Given the description of an element on the screen output the (x, y) to click on. 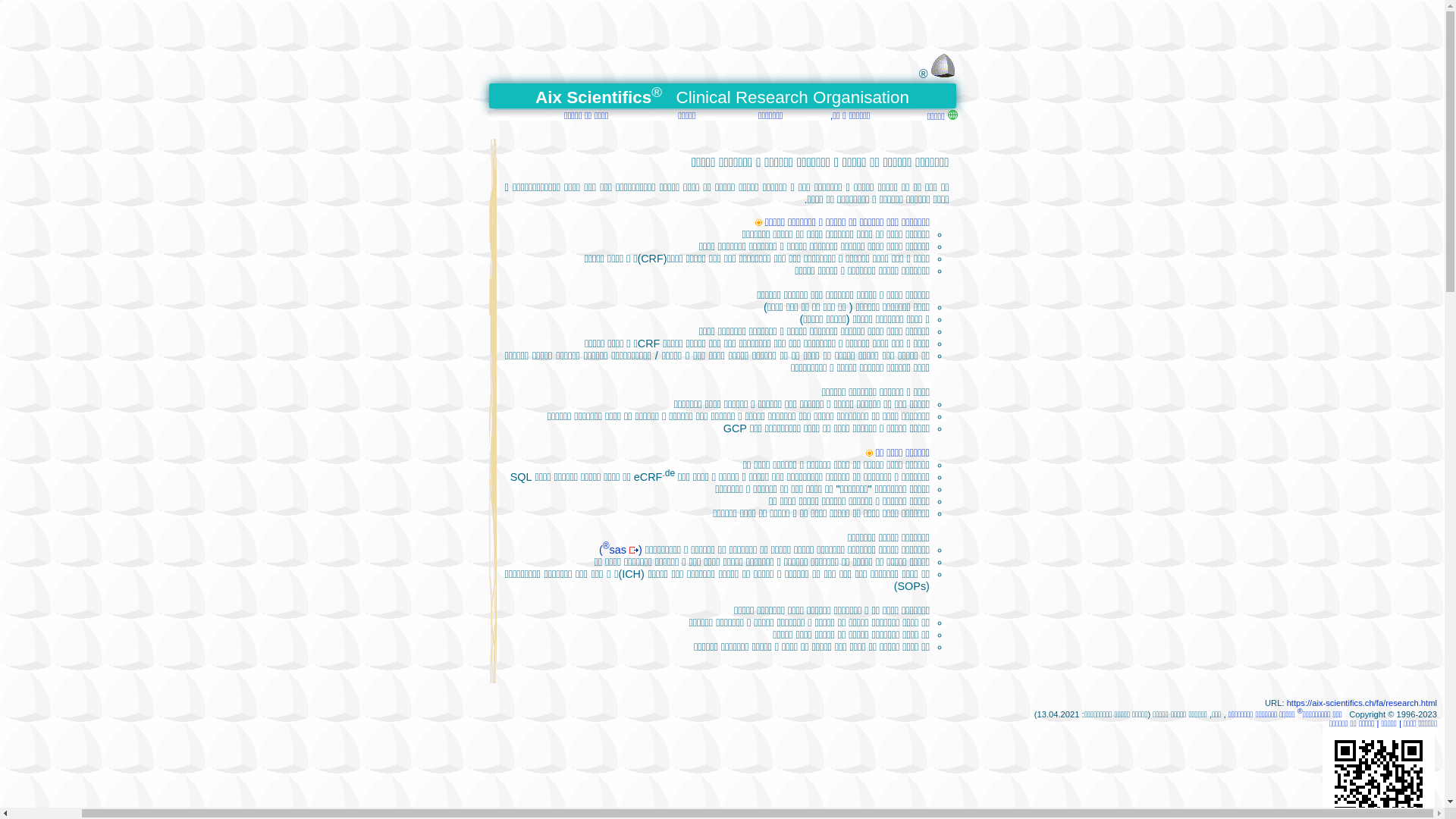
https://aix-scientifics.ch/fa Element type: text (1334, 702)
eCRF.de Element type: text (653, 476)
research.html Element type: text (1411, 702)
CRF Element type: text (648, 343)
SQL Element type: text (521, 476)
